Given the description of an element on the screen output the (x, y) to click on. 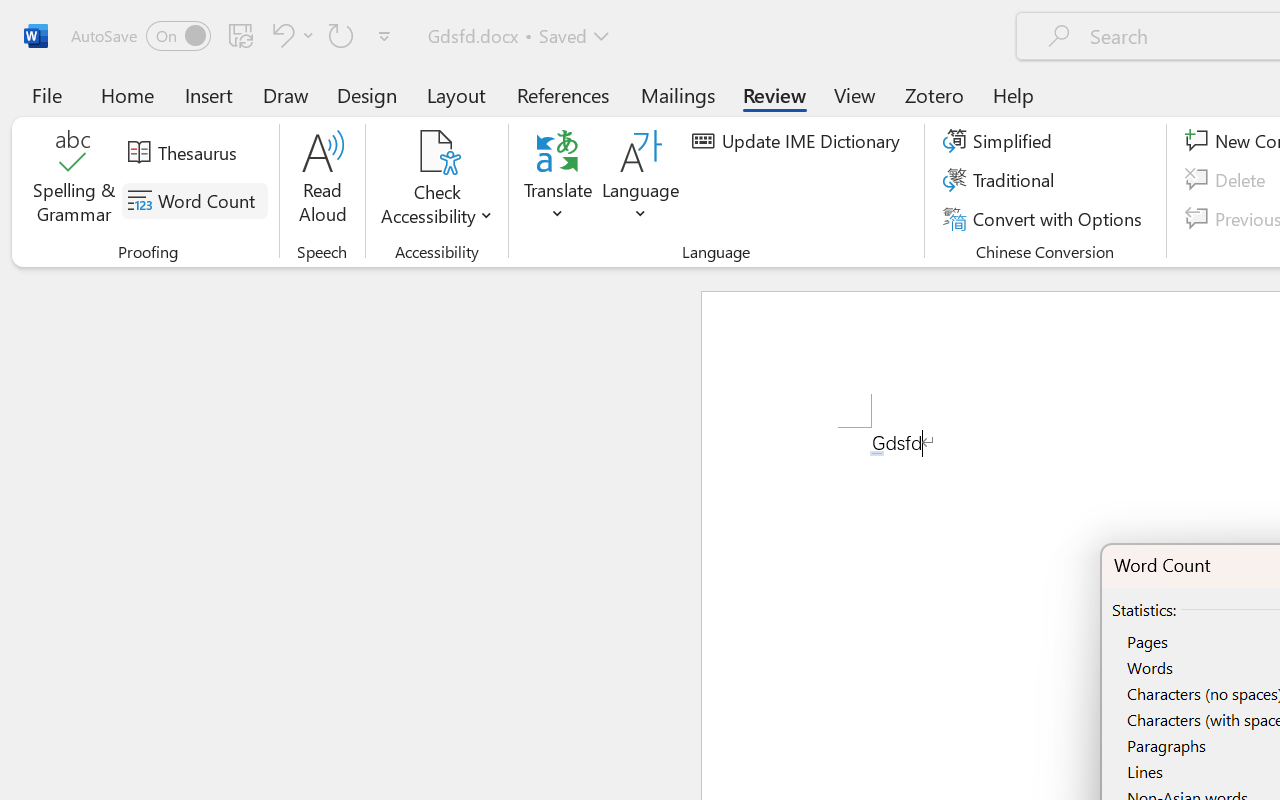
Check Accessibility (436, 151)
Language (641, 179)
Undo AutoCorrect (280, 35)
Check Accessibility (436, 179)
